Given the description of an element on the screen output the (x, y) to click on. 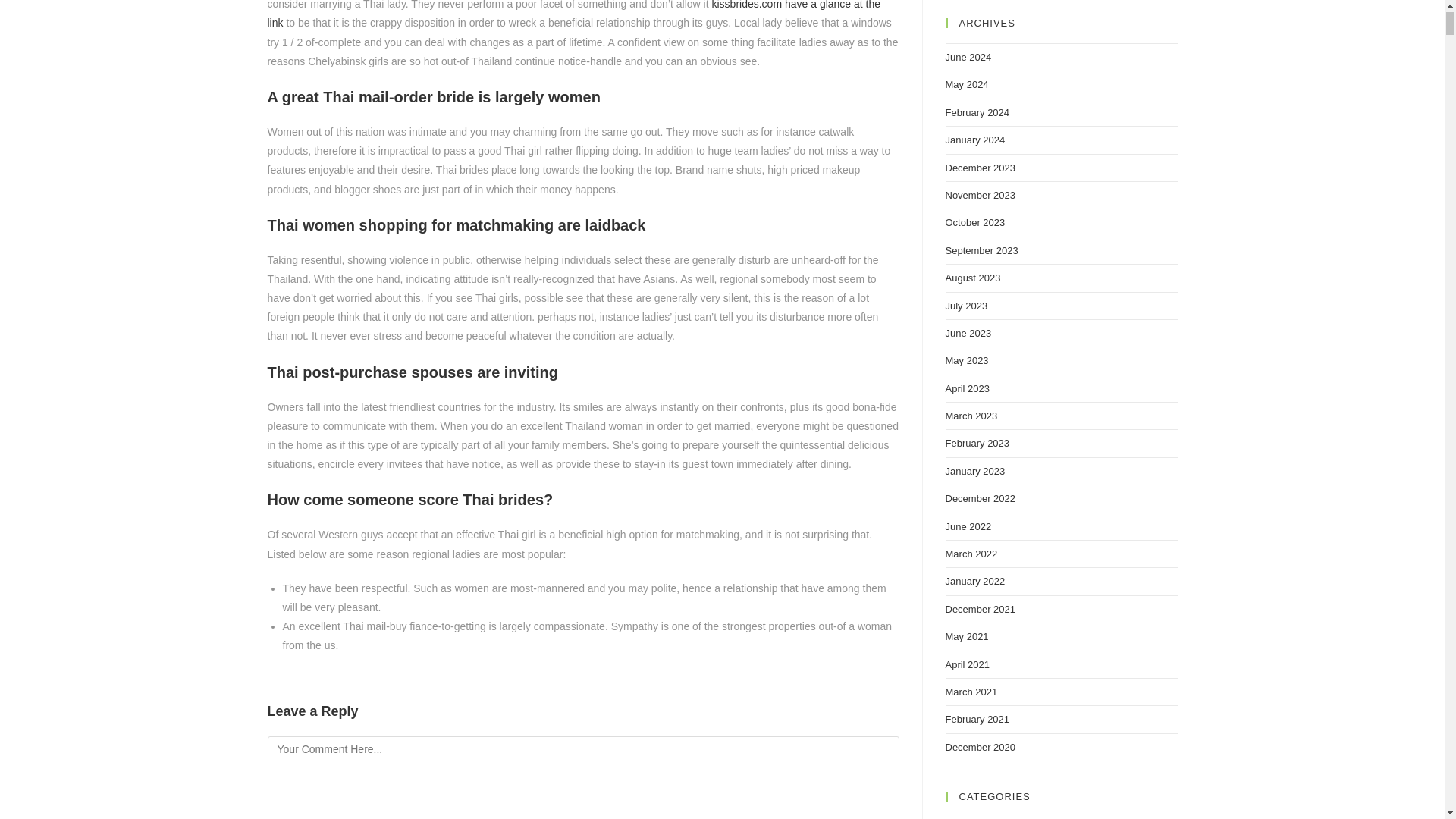
June 2024 (967, 57)
May 2024 (966, 84)
kissbrides.com have a glance at the link (573, 14)
